Given the description of an element on the screen output the (x, y) to click on. 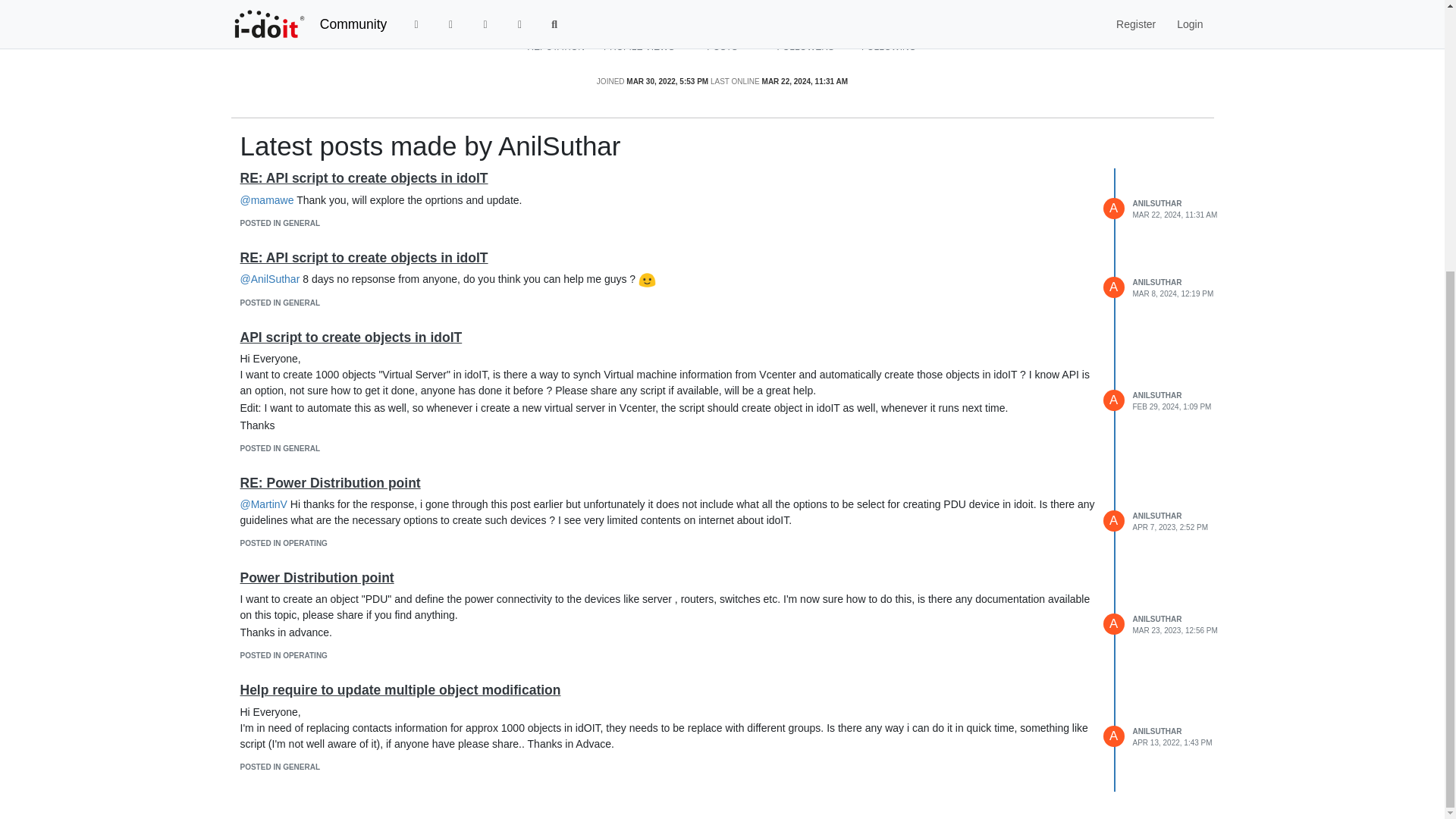
RE: API script to create objects in idoIT (363, 177)
POSTED IN GENERAL (280, 223)
ANILSUTHAR (1157, 203)
RE: API script to create objects in idoIT (363, 257)
